Given the description of an element on the screen output the (x, y) to click on. 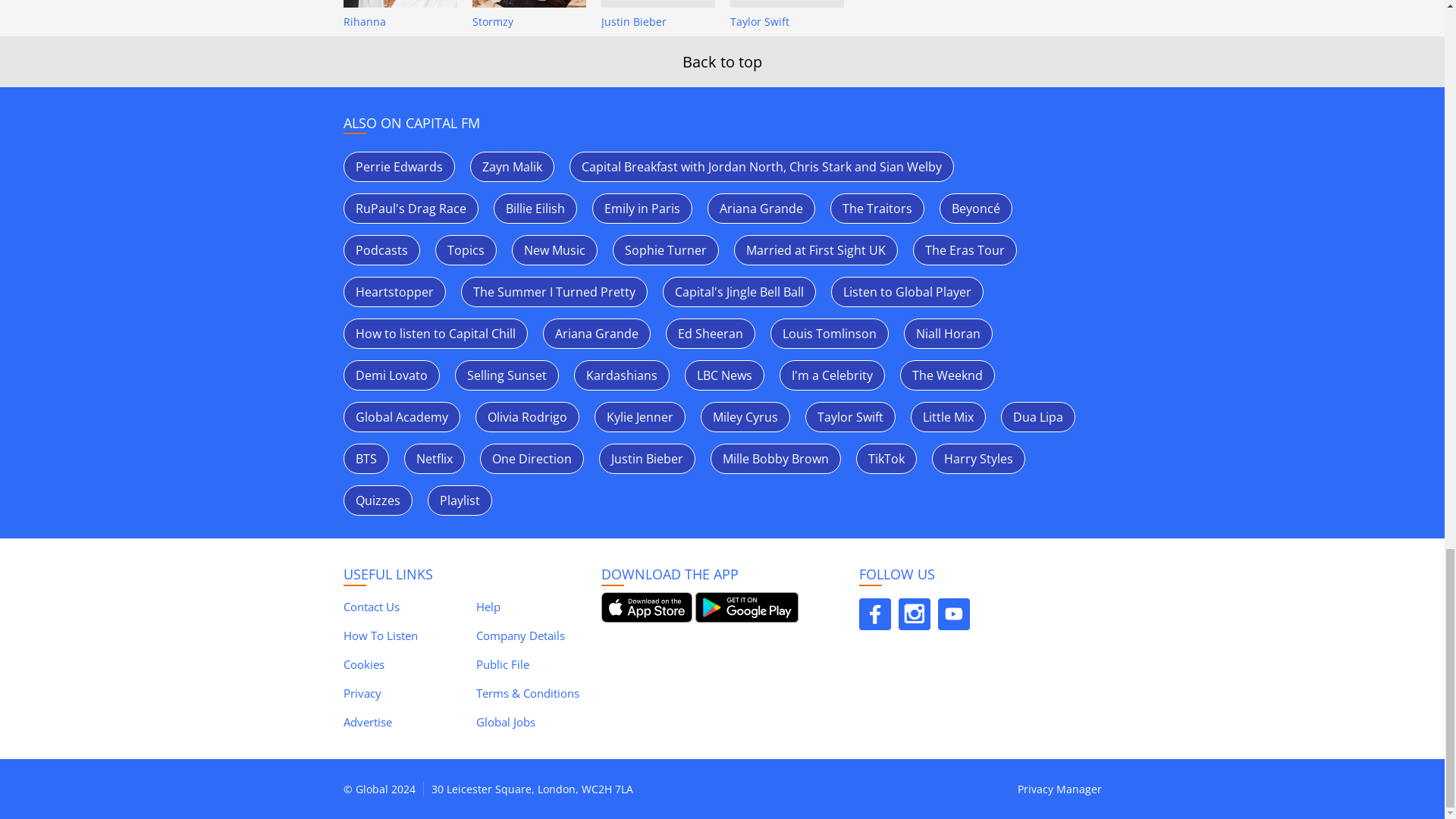
Back to top (721, 61)
Follow Capital on Instagram (914, 613)
Follow Capital on Facebook (874, 613)
Follow Capital on Youtube (953, 613)
